Given the description of an element on the screen output the (x, y) to click on. 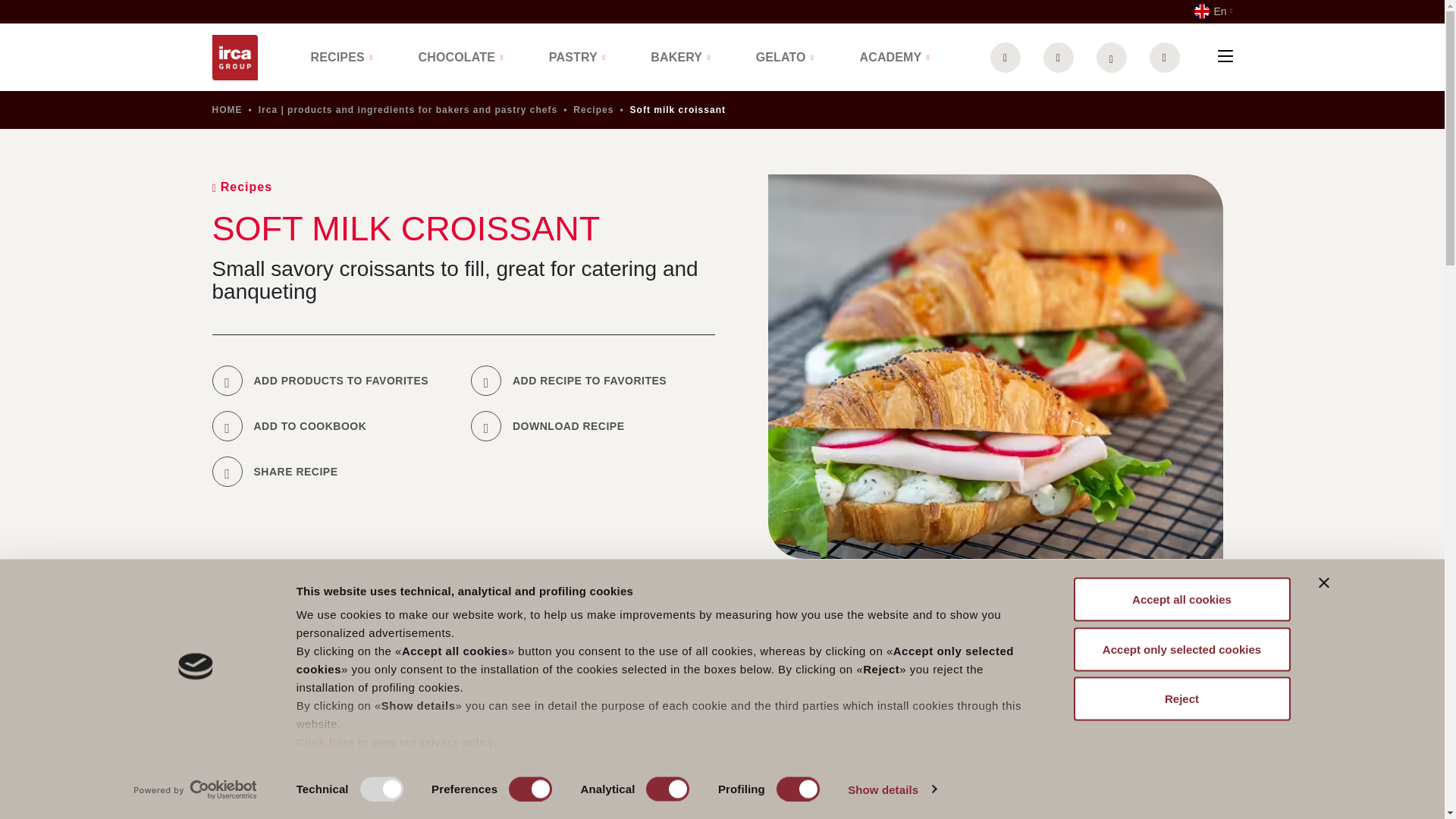
Show details (891, 789)
Recipes (592, 109)
HOME (227, 109)
Click here (326, 741)
